Given the description of an element on the screen output the (x, y) to click on. 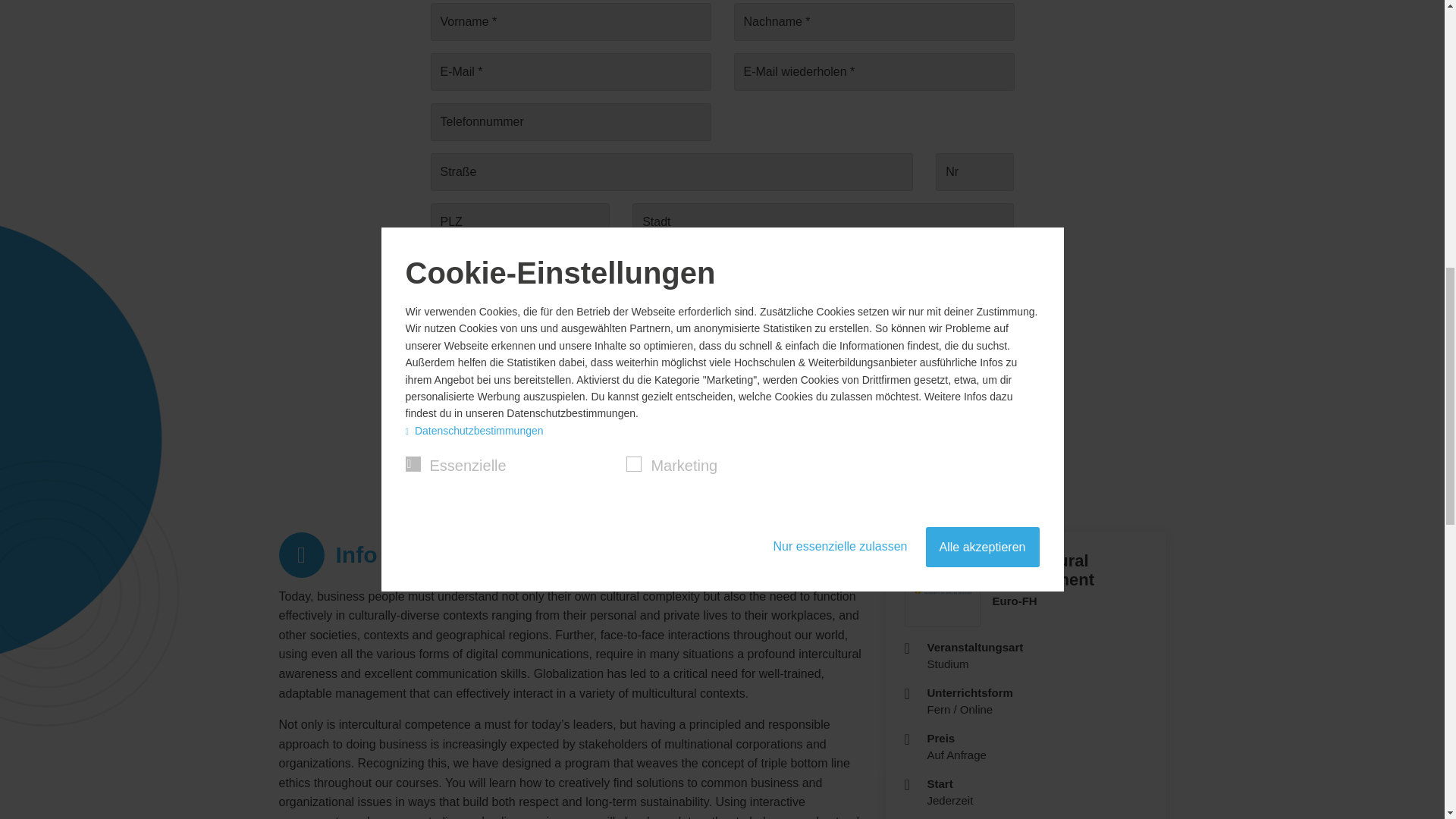
on (435, 262)
Datenschutzbestimmungen (604, 263)
Formular absenden (722, 334)
